Given the description of an element on the screen output the (x, y) to click on. 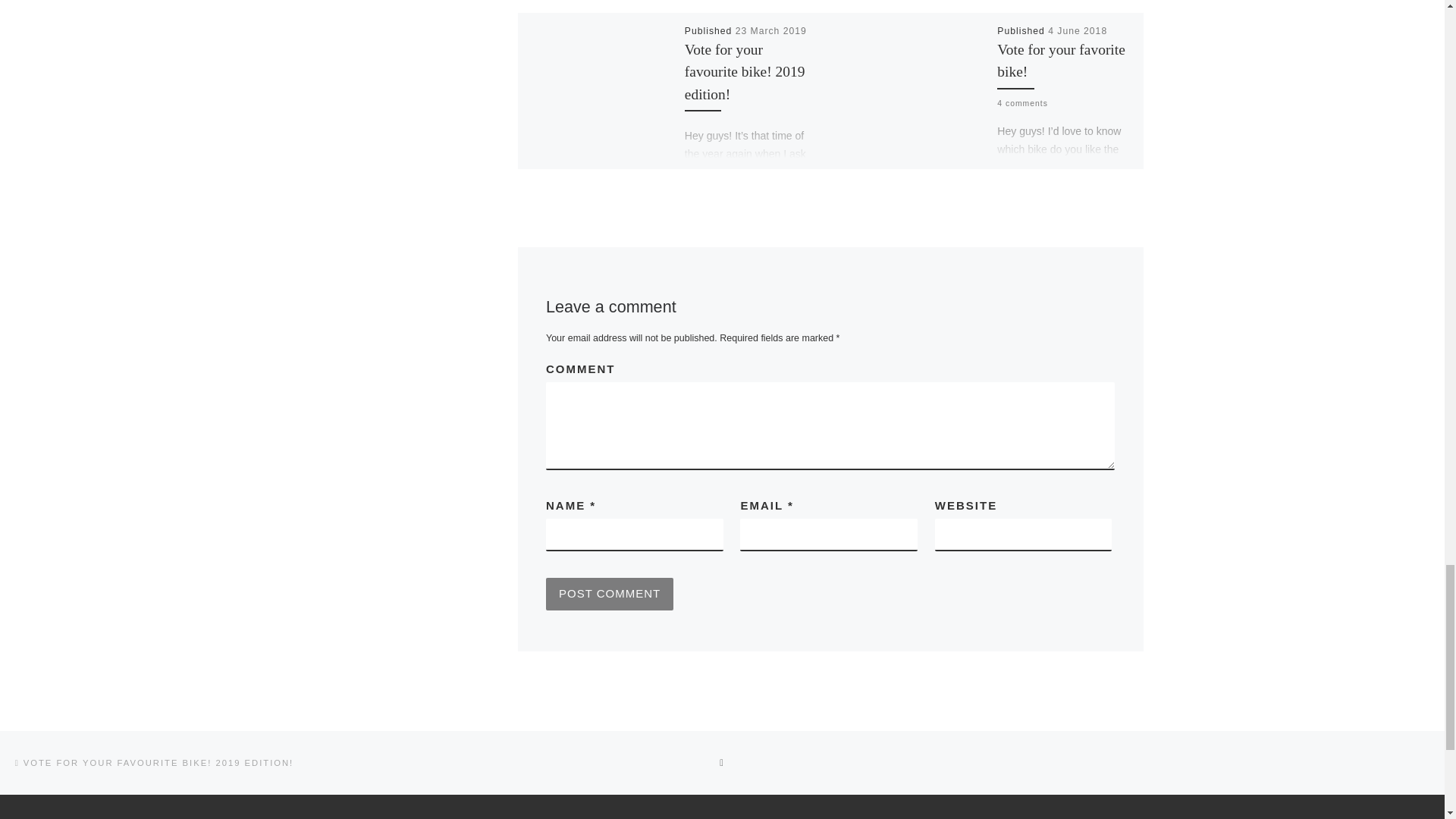
Vote for your favourite bike! 2019 edition! (744, 71)
23 March 2019 (770, 30)
Permalink to Vote for your favourite bike! 2019 edition! (744, 71)
Vote for your favorite bike! (1060, 60)
Post Comment (609, 594)
Permalink to Vote for your favorite bike! (1060, 60)
4 June 2018 (1077, 30)
